Given the description of an element on the screen output the (x, y) to click on. 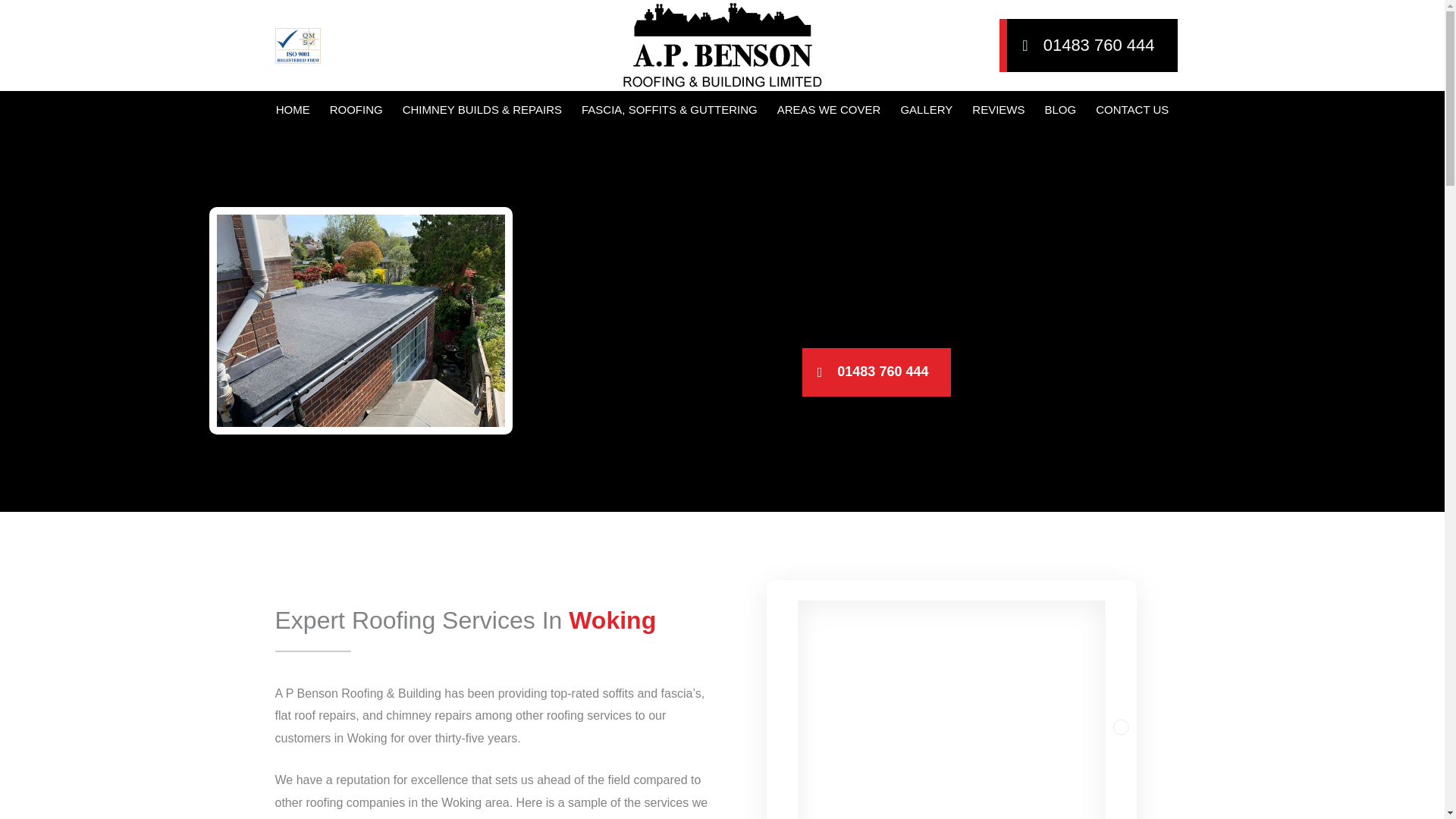
HOME (293, 109)
REVIEWS (997, 109)
CONTACT US (1131, 109)
BLOG (1060, 109)
ROOFING (356, 109)
GALLERY (925, 109)
AREAS WE COVER (829, 109)
01483 760 444 (1087, 45)
